Given the description of an element on the screen output the (x, y) to click on. 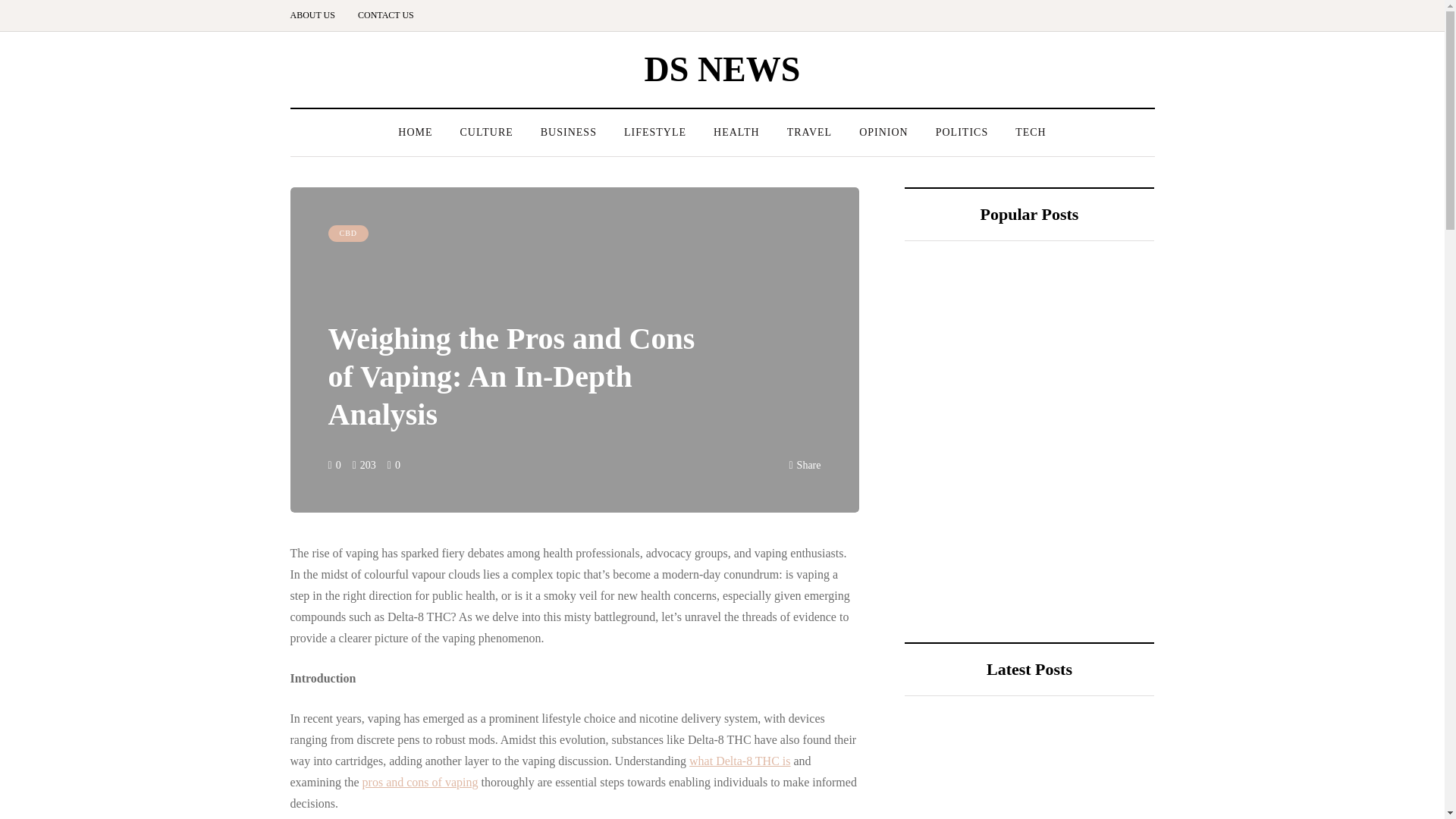
CBD (347, 233)
BUSINESS (568, 132)
POLITICS (961, 132)
DS NEWS (722, 68)
what Delta-8 THC is (739, 760)
ABOUT US (317, 15)
TECH (1030, 132)
TRAVEL (809, 132)
CONTACT US (385, 15)
OPINION (883, 132)
